Given the description of an element on the screen output the (x, y) to click on. 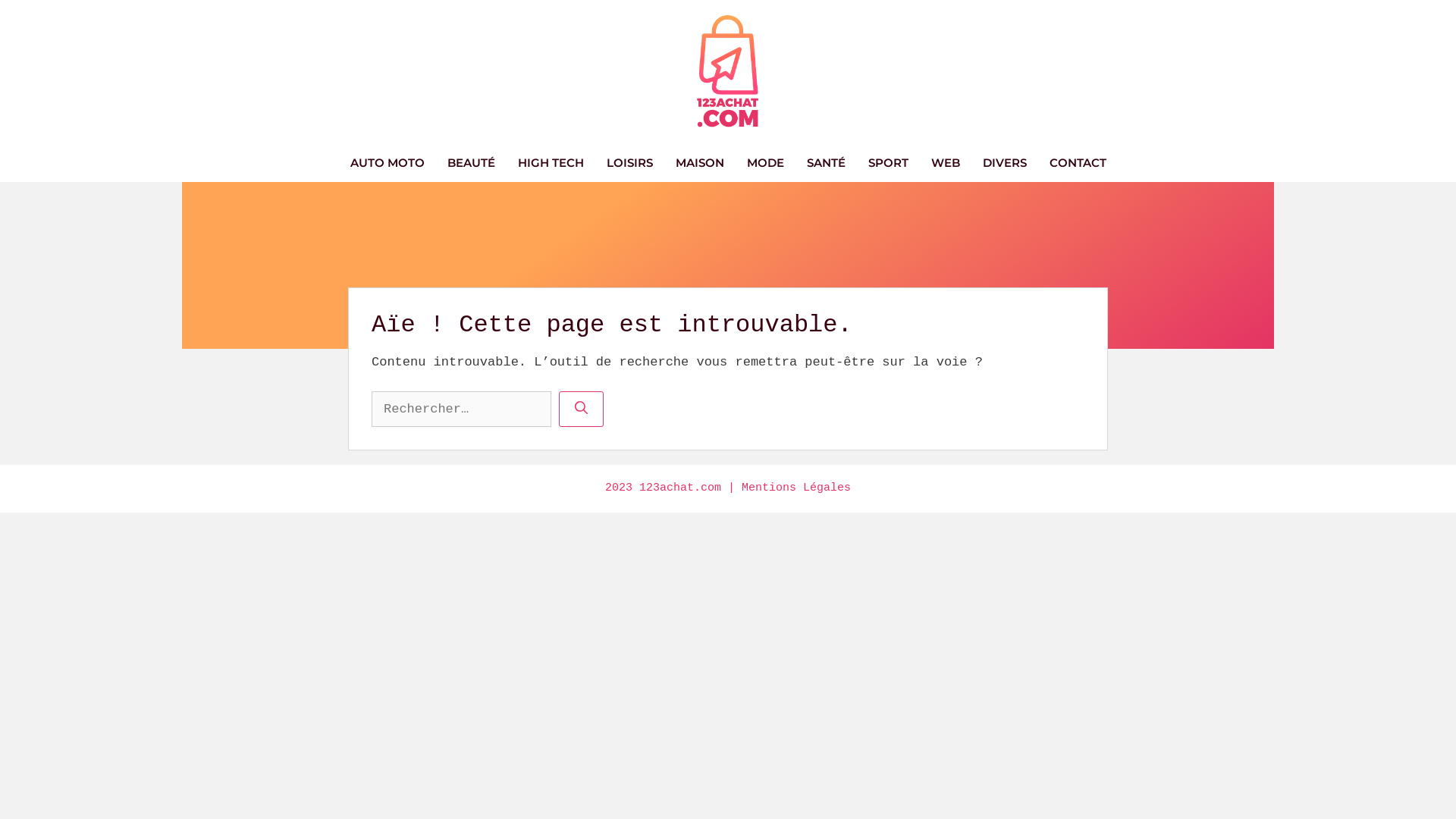
MAISON Element type: text (699, 163)
LOISIRS Element type: text (628, 163)
SPORT Element type: text (887, 163)
DIVERS Element type: text (1003, 163)
CONTACT Element type: text (1077, 163)
HIGH TECH Element type: text (550, 163)
AUTO MOTO Element type: text (386, 163)
WEB Element type: text (944, 163)
MODE Element type: text (765, 163)
